Given the description of an element on the screen output the (x, y) to click on. 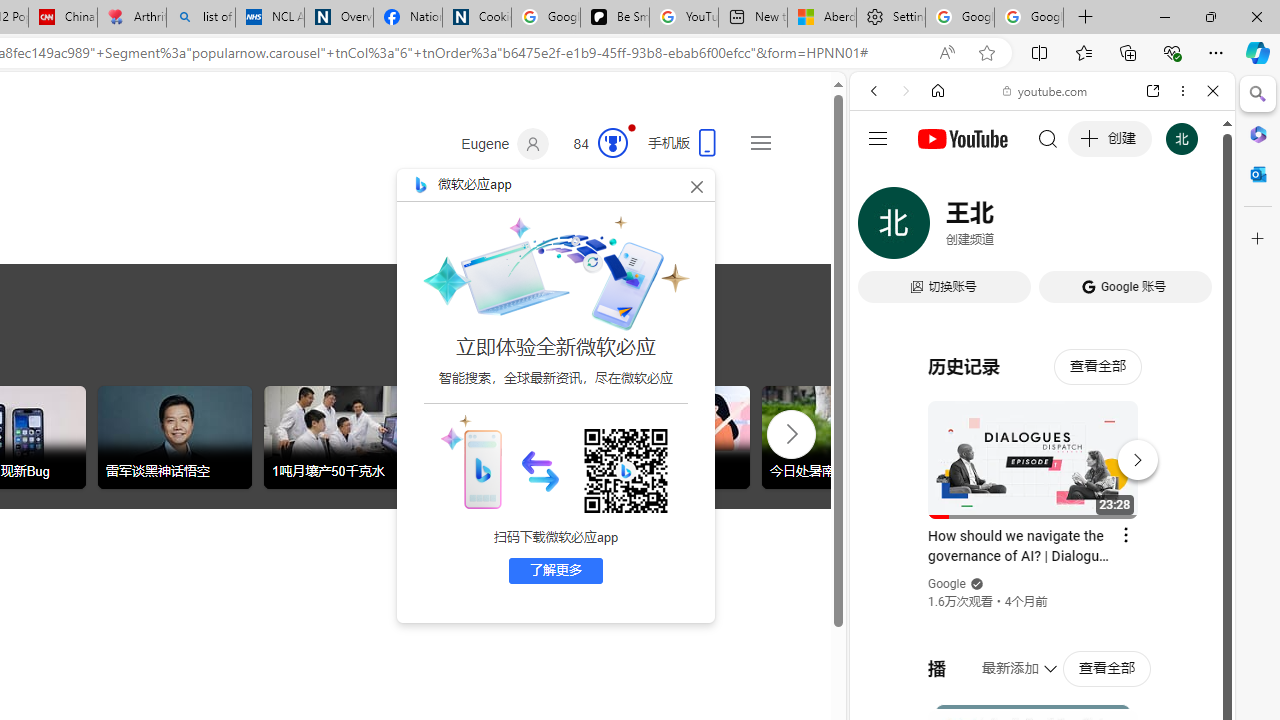
VIDEOS (1006, 228)
Search Filter, IMAGES (939, 228)
Settings (890, 17)
Favorites (1083, 52)
Show More Music (1164, 546)
Trailer #2 [HD] (1042, 592)
IMAGES (939, 228)
Eugene (505, 143)
